Given the description of an element on the screen output the (x, y) to click on. 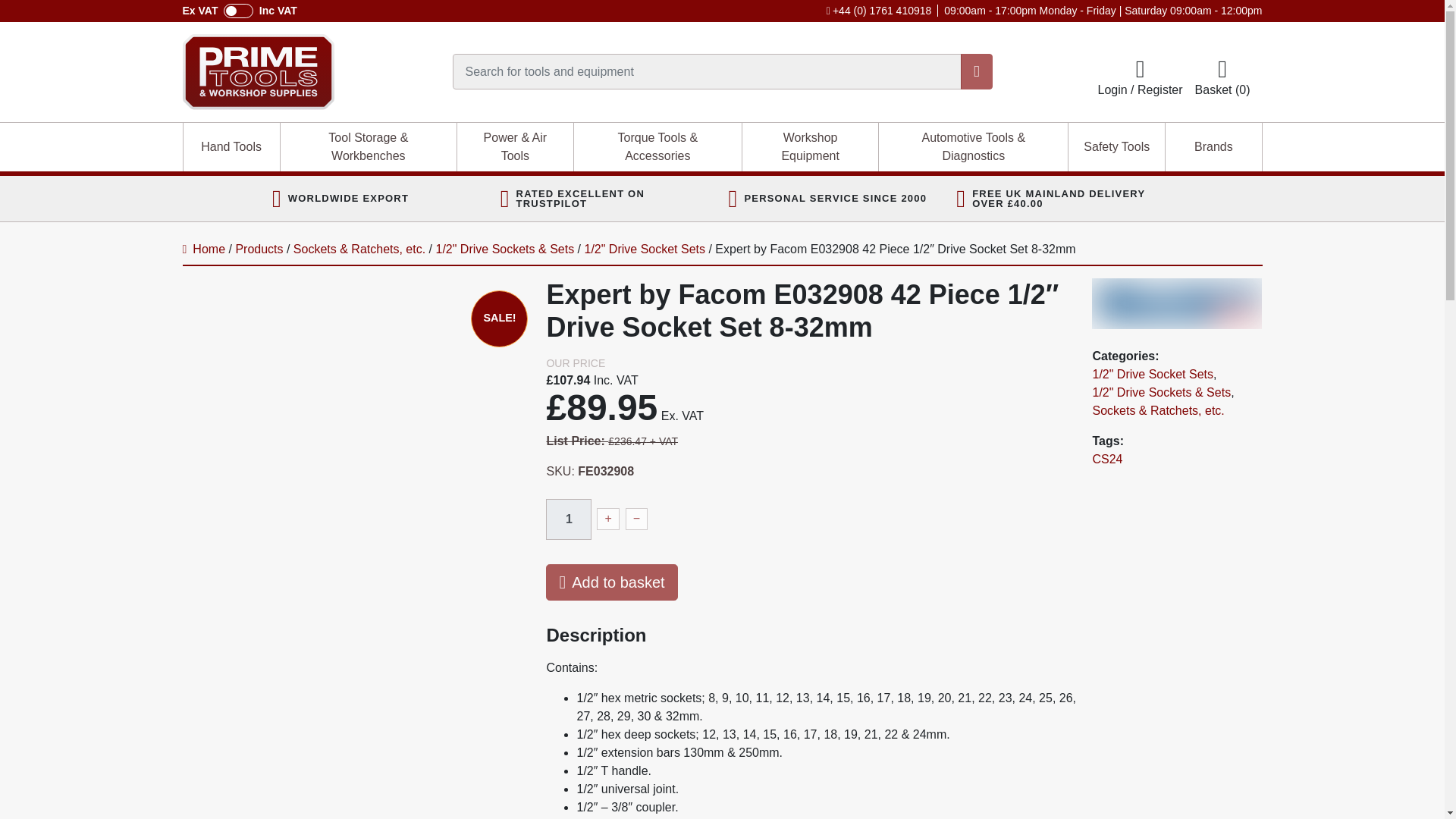
Hand Tools (231, 146)
Return to the PrimeTools homepage (316, 71)
Hand Tools (231, 146)
1 (568, 518)
Search (976, 71)
